Given the description of an element on the screen output the (x, y) to click on. 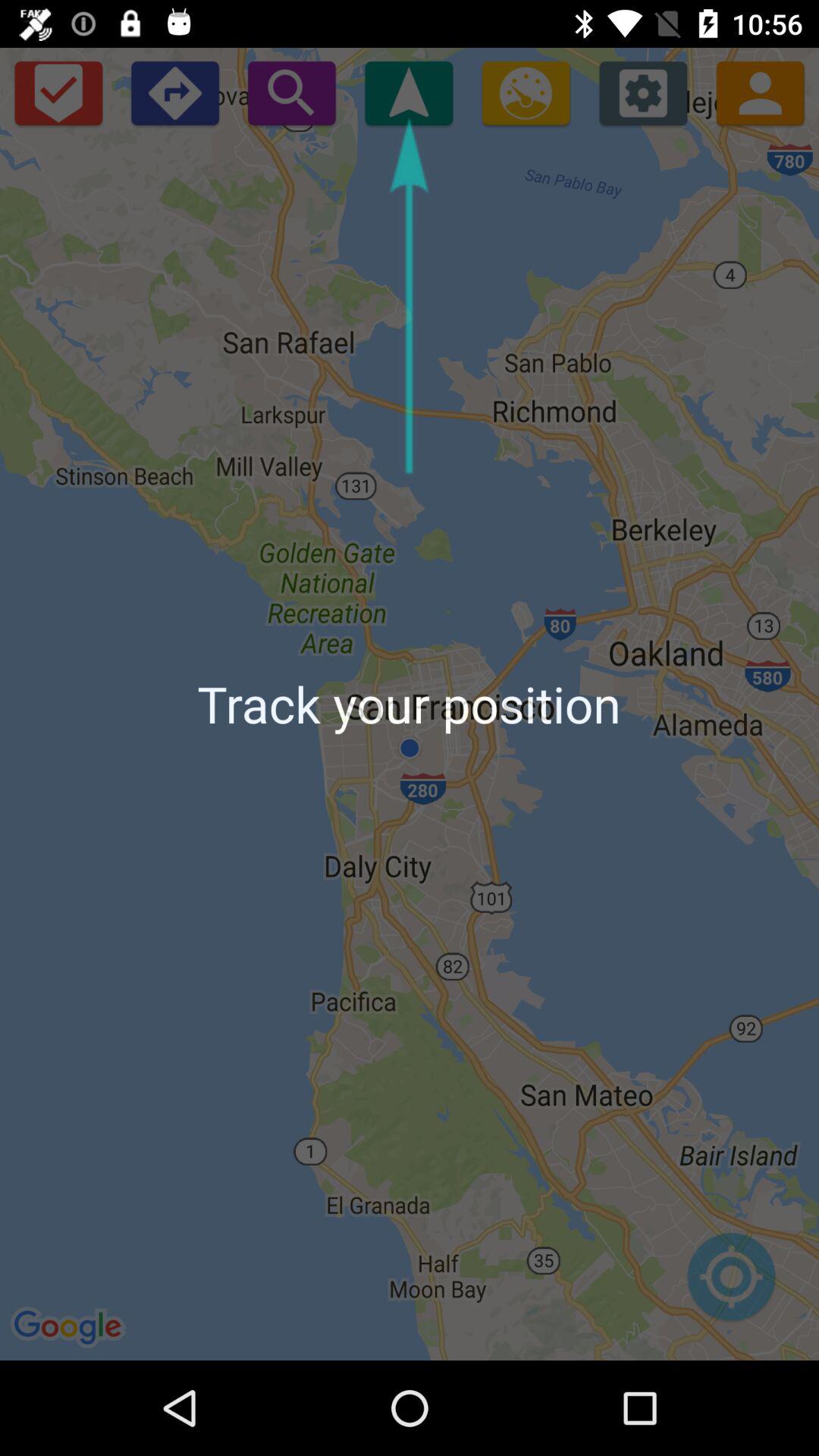
forward option (174, 92)
